Given the description of an element on the screen output the (x, y) to click on. 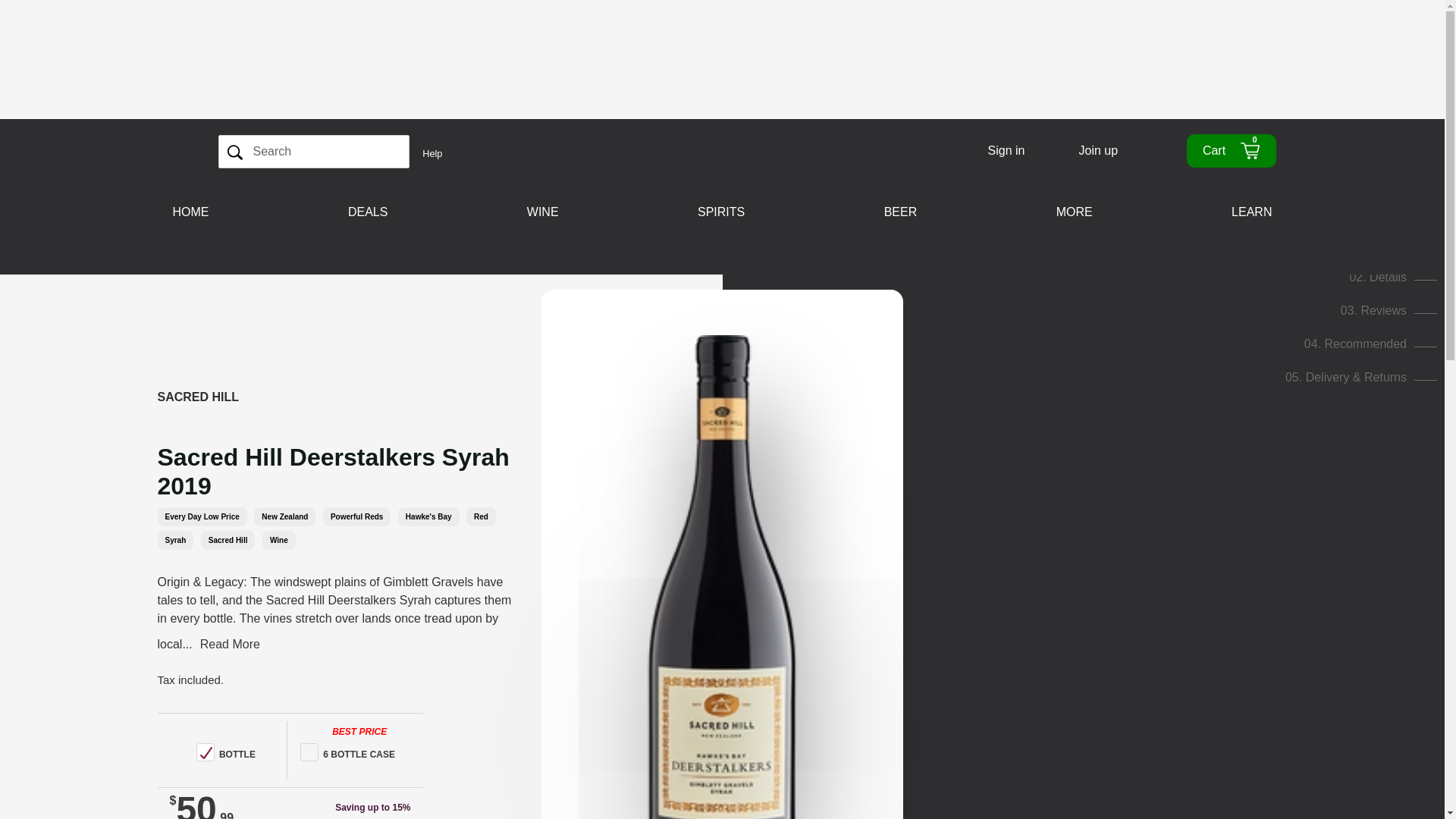
Join up (1098, 150)
Wine (278, 539)
WINE (1230, 150)
02. Details (542, 212)
BEER (1393, 277)
DEALS (901, 212)
01. Overview (368, 212)
Sacred Hill (1378, 243)
03. Reviews (228, 539)
